Given the description of an element on the screen output the (x, y) to click on. 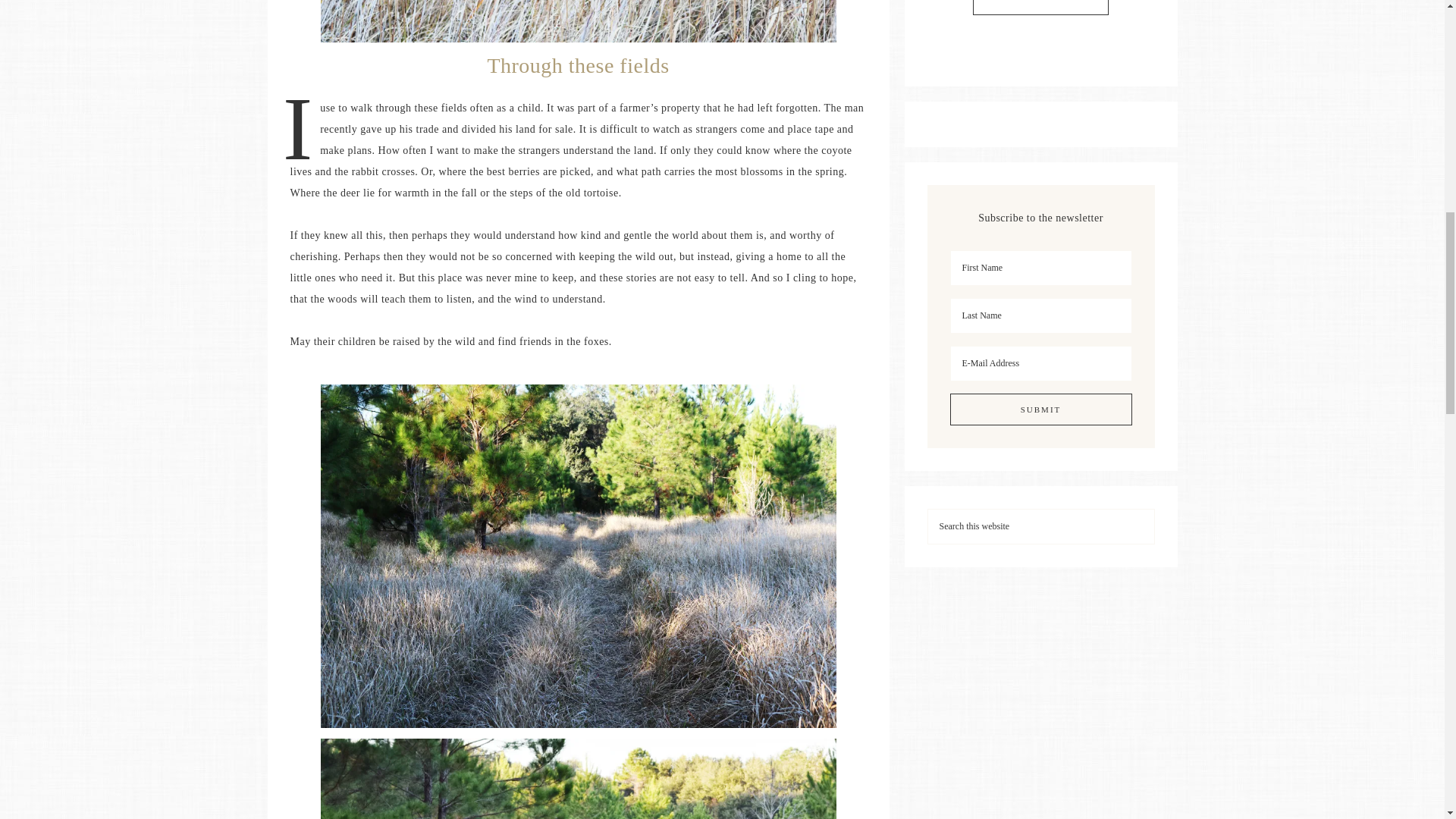
Submit (1040, 409)
Submit (1040, 409)
READ MORE (1040, 7)
